Given the description of an element on the screen output the (x, y) to click on. 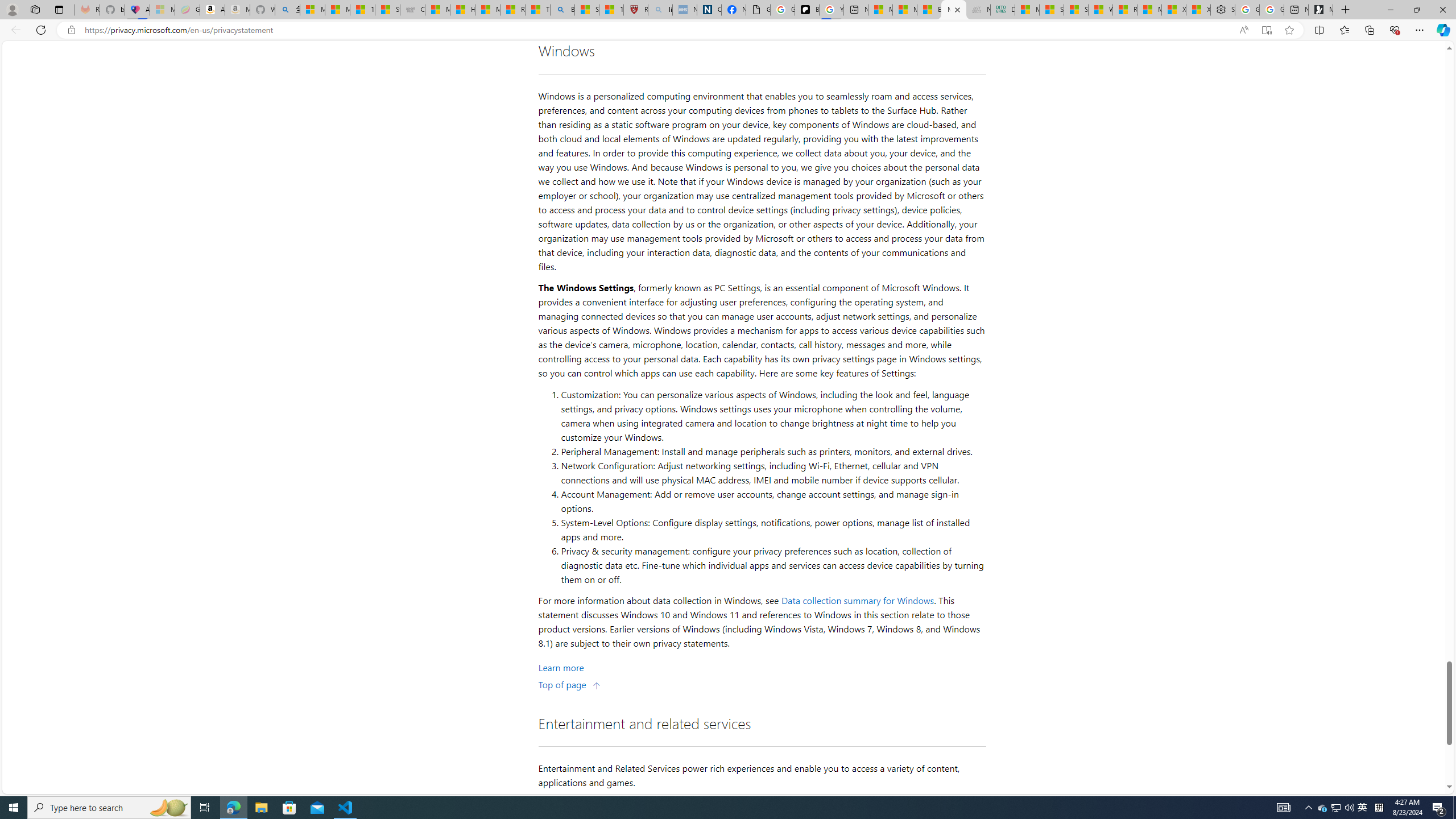
Asthma Inhalers: Names and Types (136, 9)
Be Smart | creating Science videos | Patreon (807, 9)
